Given the description of an element on the screen output the (x, y) to click on. 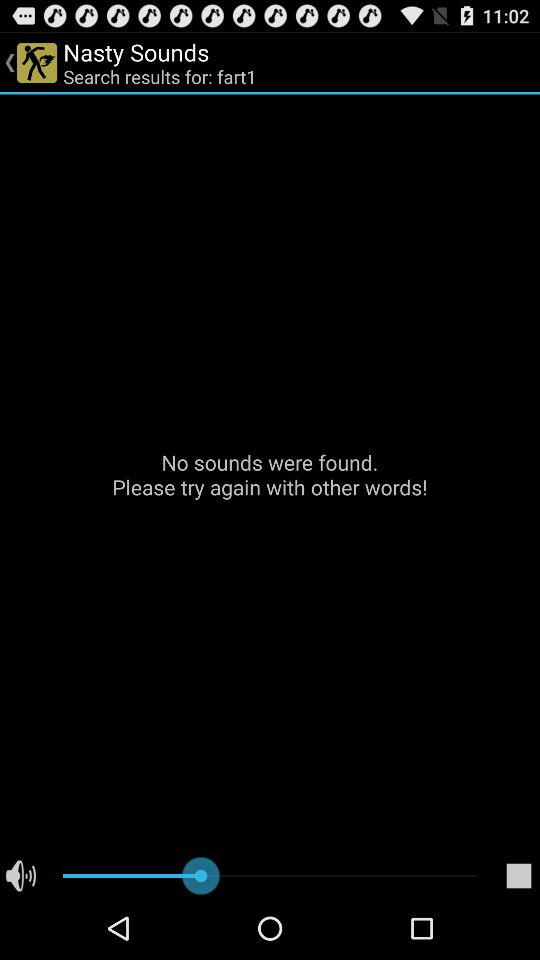
launch the app below no sounds were item (518, 875)
